Given the description of an element on the screen output the (x, y) to click on. 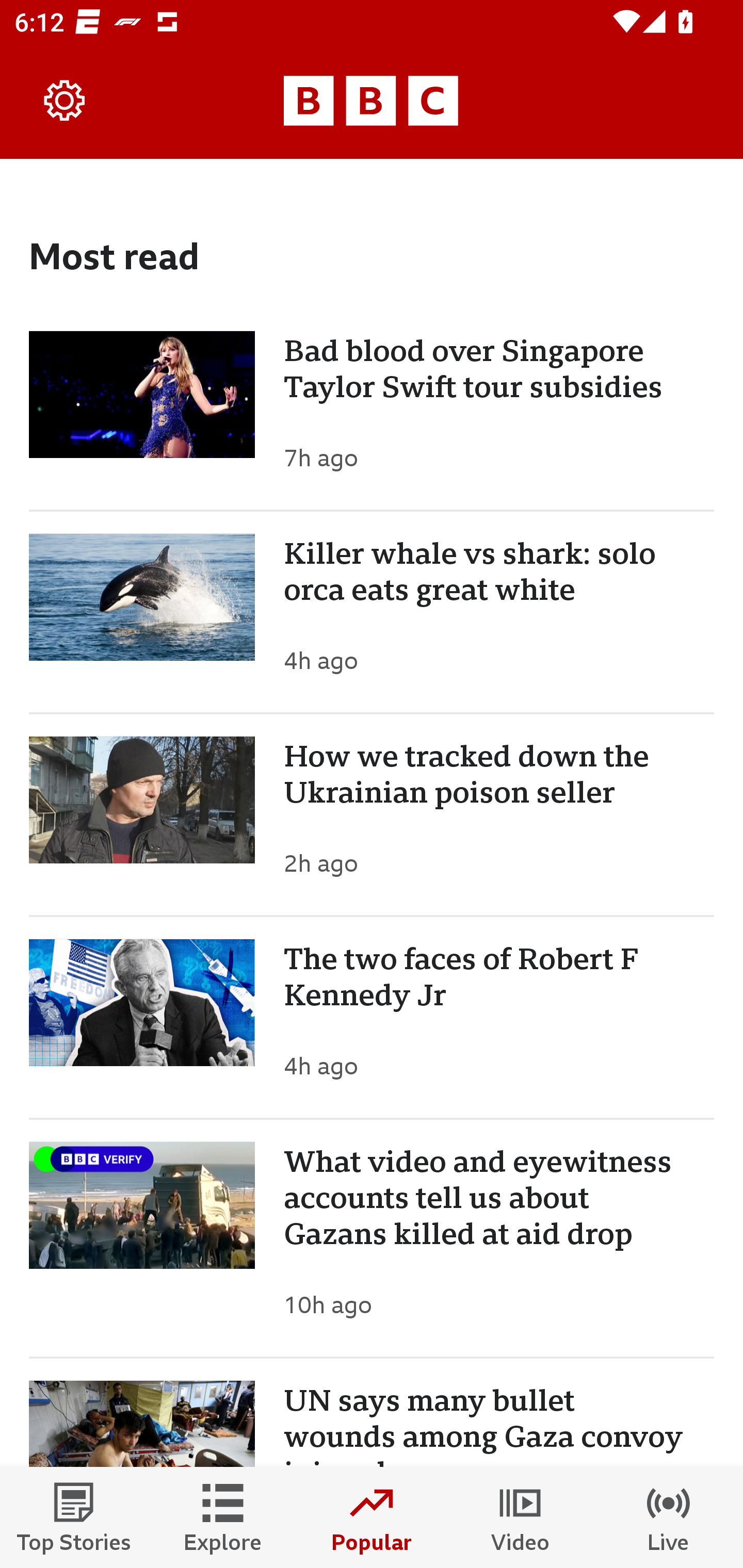
Settings (64, 100)
Top Stories (74, 1517)
Explore (222, 1517)
Video (519, 1517)
Live (668, 1517)
